Given the description of an element on the screen output the (x, y) to click on. 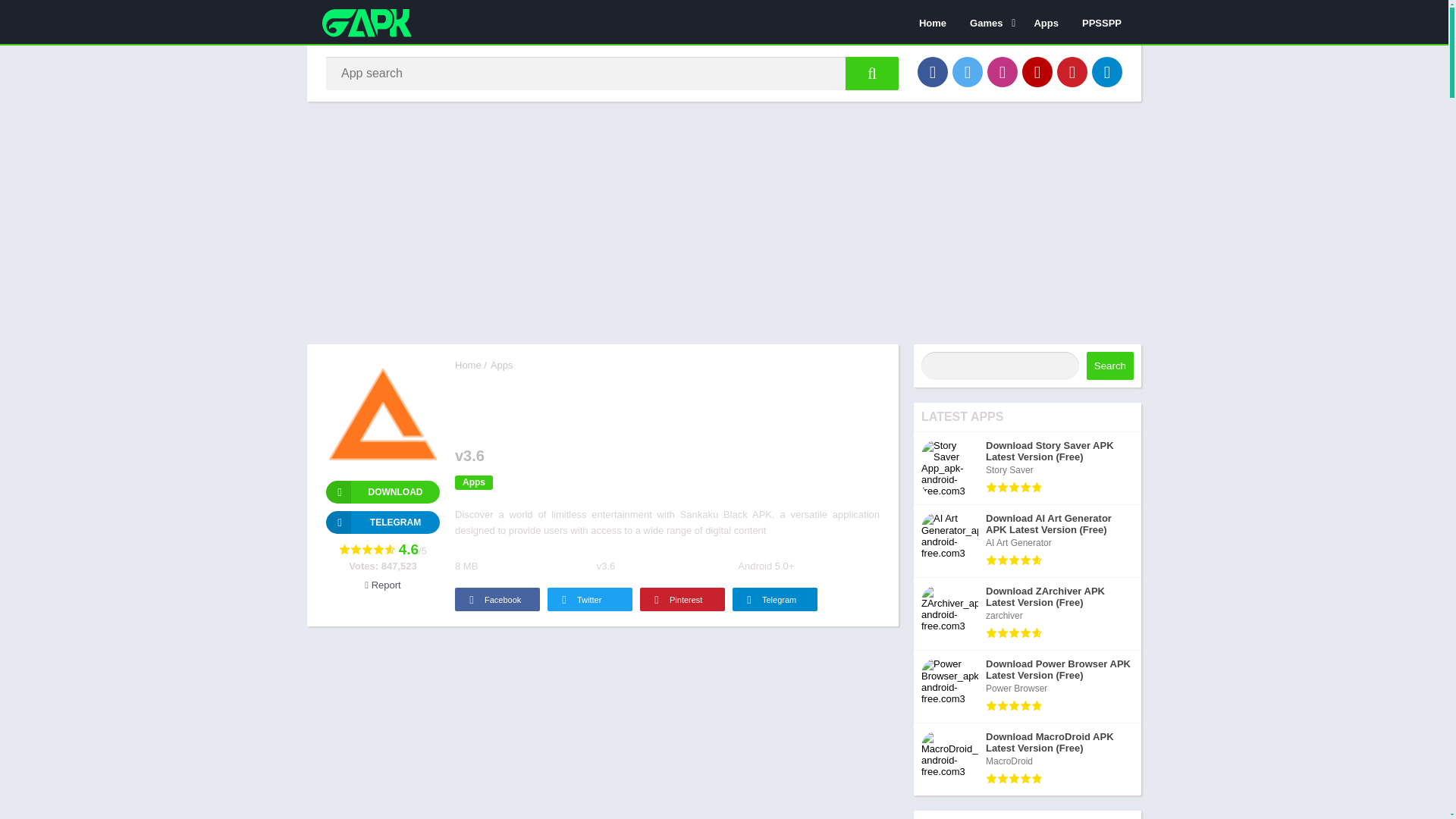
Telegram (1107, 71)
Pinterest (1072, 71)
Twitter (967, 71)
Telegram (382, 522)
PPSSPP (1101, 22)
YouTube (1037, 71)
Games (990, 22)
Apps (501, 365)
DOWNLOAD (382, 491)
Apps (473, 482)
Home (932, 22)
App search (871, 73)
Facebook (932, 71)
Home (467, 365)
Download (382, 491)
